Given the description of an element on the screen output the (x, y) to click on. 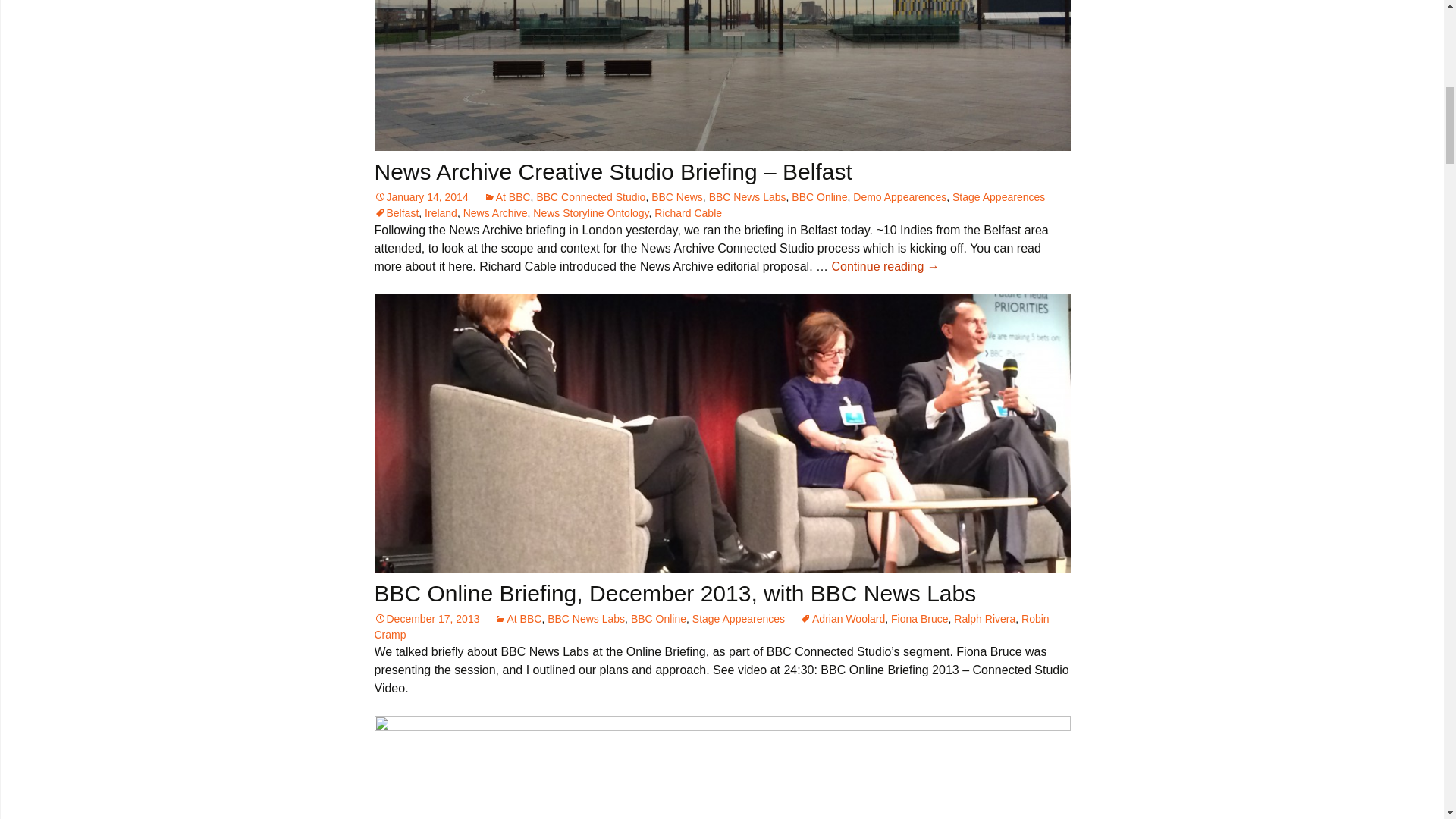
January 14, 2014 (421, 196)
BBC Connected Studio (590, 196)
BBC News (676, 196)
Belfast (396, 213)
Demo Appearences (899, 196)
Stage Appearences (998, 196)
BBC News Labs (747, 196)
At BBC (507, 196)
Ireland (441, 213)
